Given the description of an element on the screen output the (x, y) to click on. 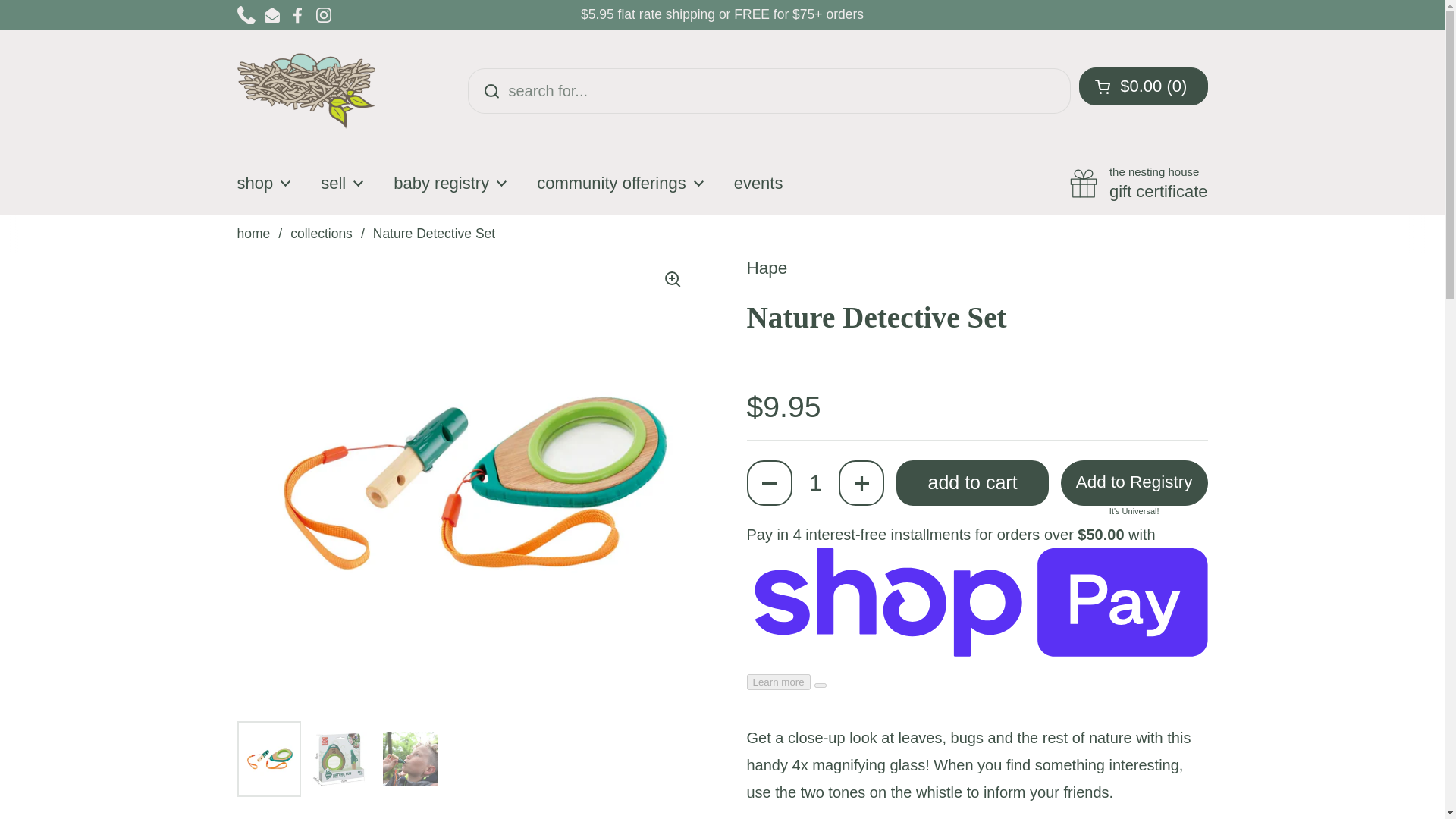
Instagram (322, 14)
Phone (244, 14)
Email (271, 14)
Facebook (296, 14)
shop (263, 183)
1 (815, 483)
The Nesting House (305, 90)
open cart (1142, 86)
